Given the description of an element on the screen output the (x, y) to click on. 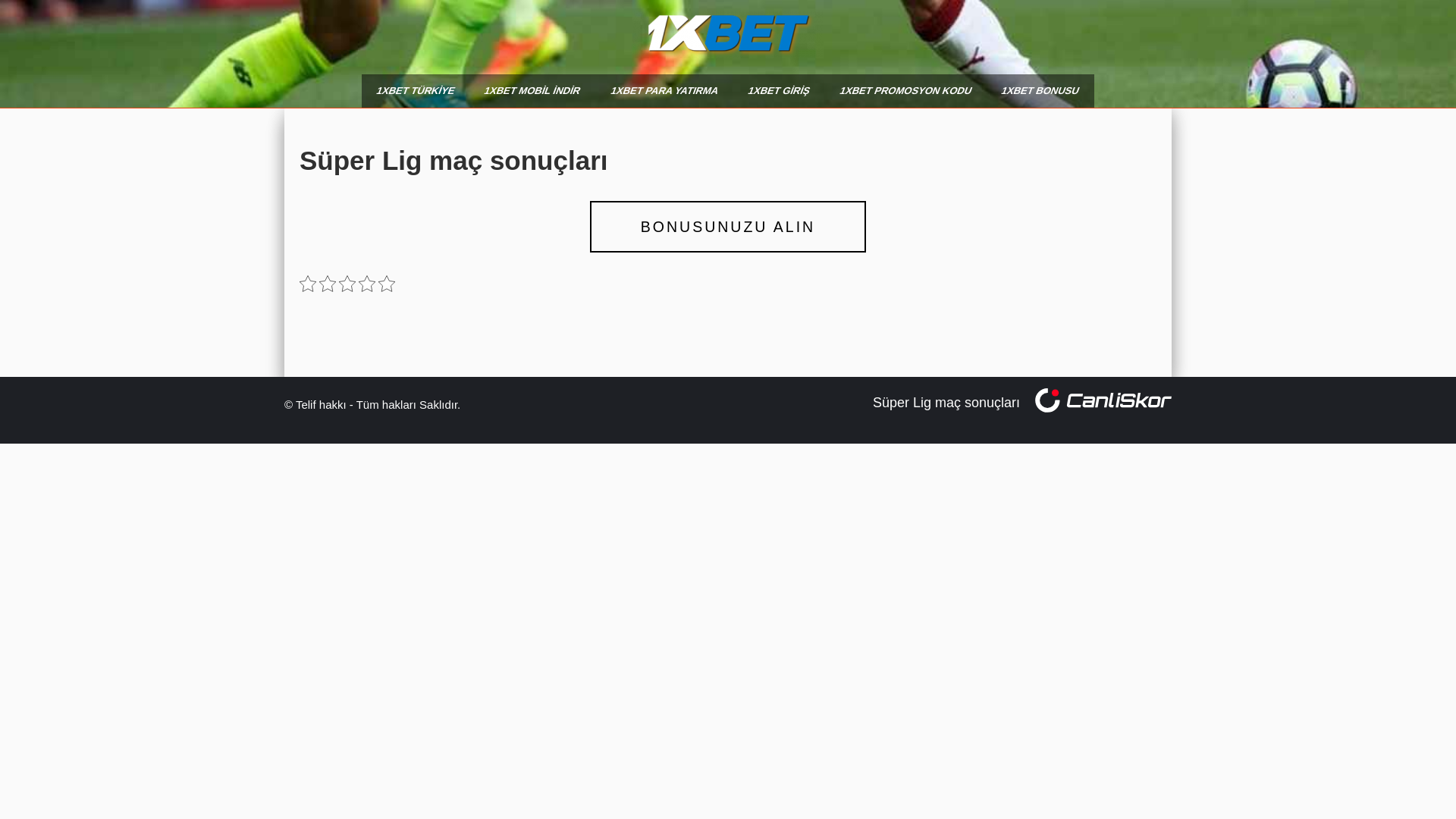
1XBET PARA YATIRMA Element type: text (658, 90)
1XBET BONUSU Element type: text (1034, 90)
1XBET PROMOSYON KODU Element type: text (899, 90)
BONUSUNUZU ALIN Element type: text (727, 225)
